Given the description of an element on the screen output the (x, y) to click on. 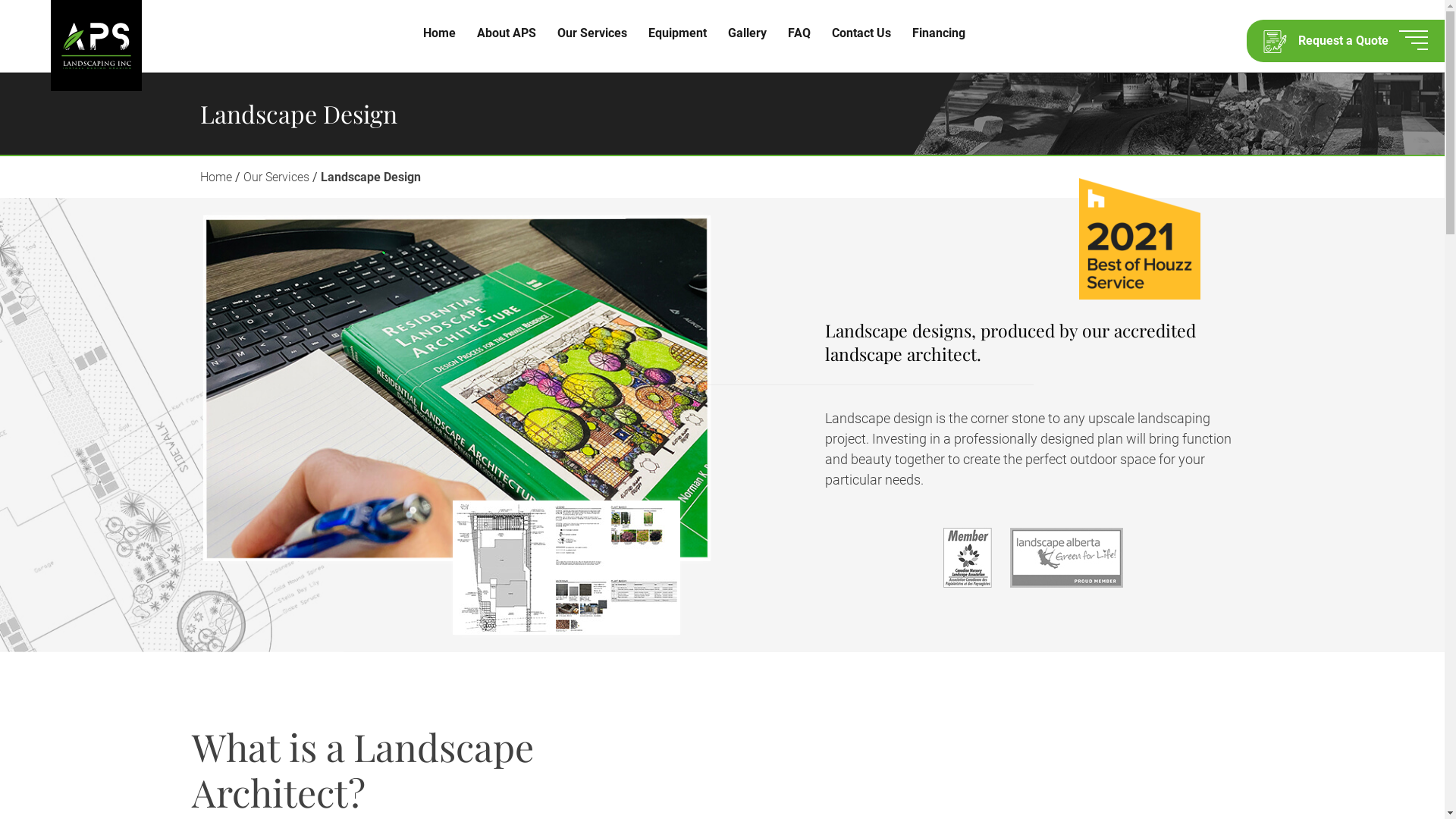
Gallery Element type: text (746, 32)
FAQ Element type: text (798, 32)
Equipment Element type: text (677, 32)
Our Services Element type: text (592, 32)
Home Element type: text (216, 176)
Contact Us Element type: text (861, 32)
Residential Landscape Construction Element type: text (625, 77)
Home Element type: text (439, 32)
Financing Element type: text (938, 32)
About APS Element type: text (506, 32)
Our Services Element type: text (275, 176)
